Given the description of an element on the screen output the (x, y) to click on. 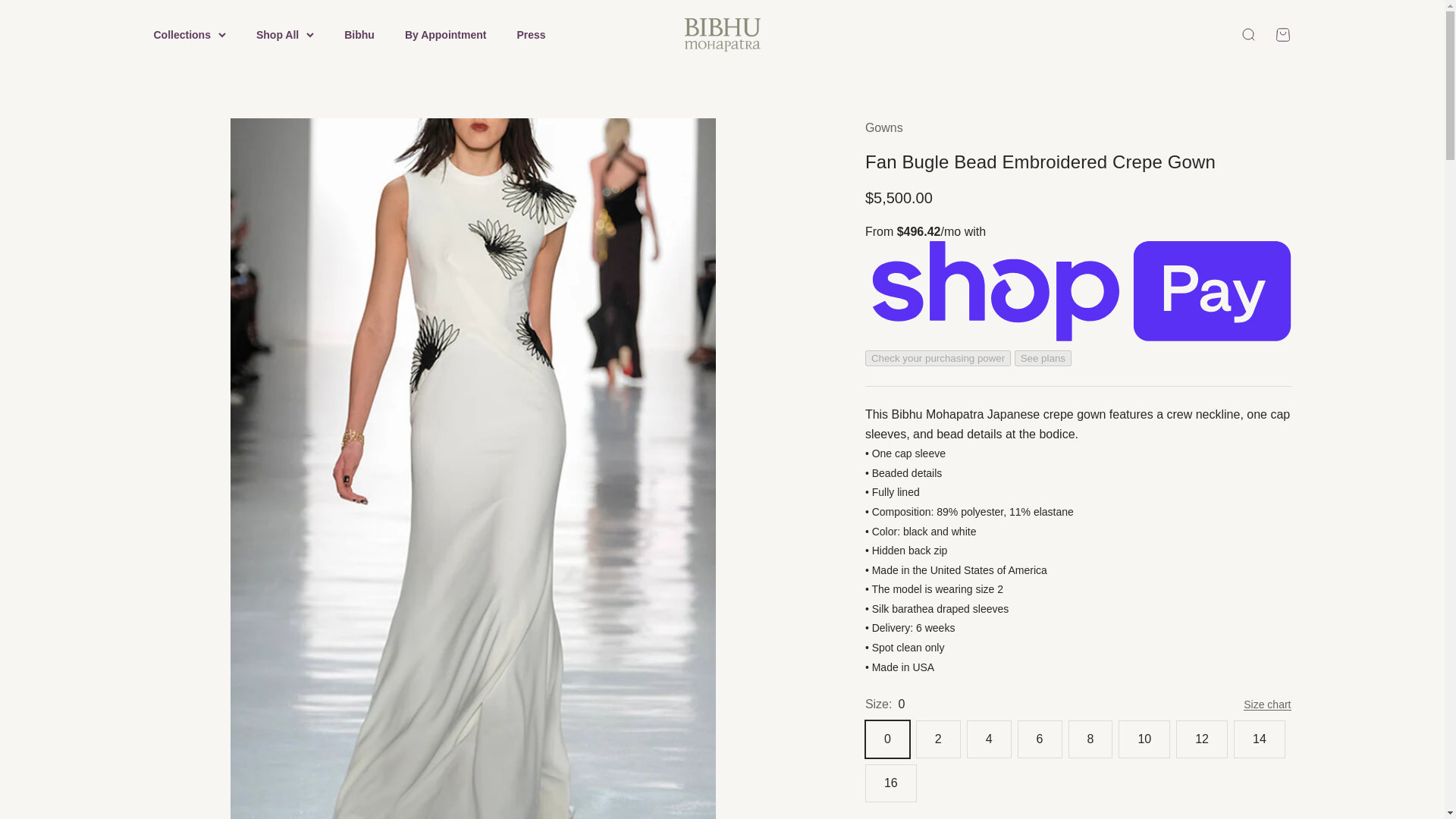
Press (530, 34)
Bibhu (358, 34)
10 (1282, 34)
0 (722, 34)
By Appointment (1247, 34)
12 (445, 34)
